Given the description of an element on the screen output the (x, y) to click on. 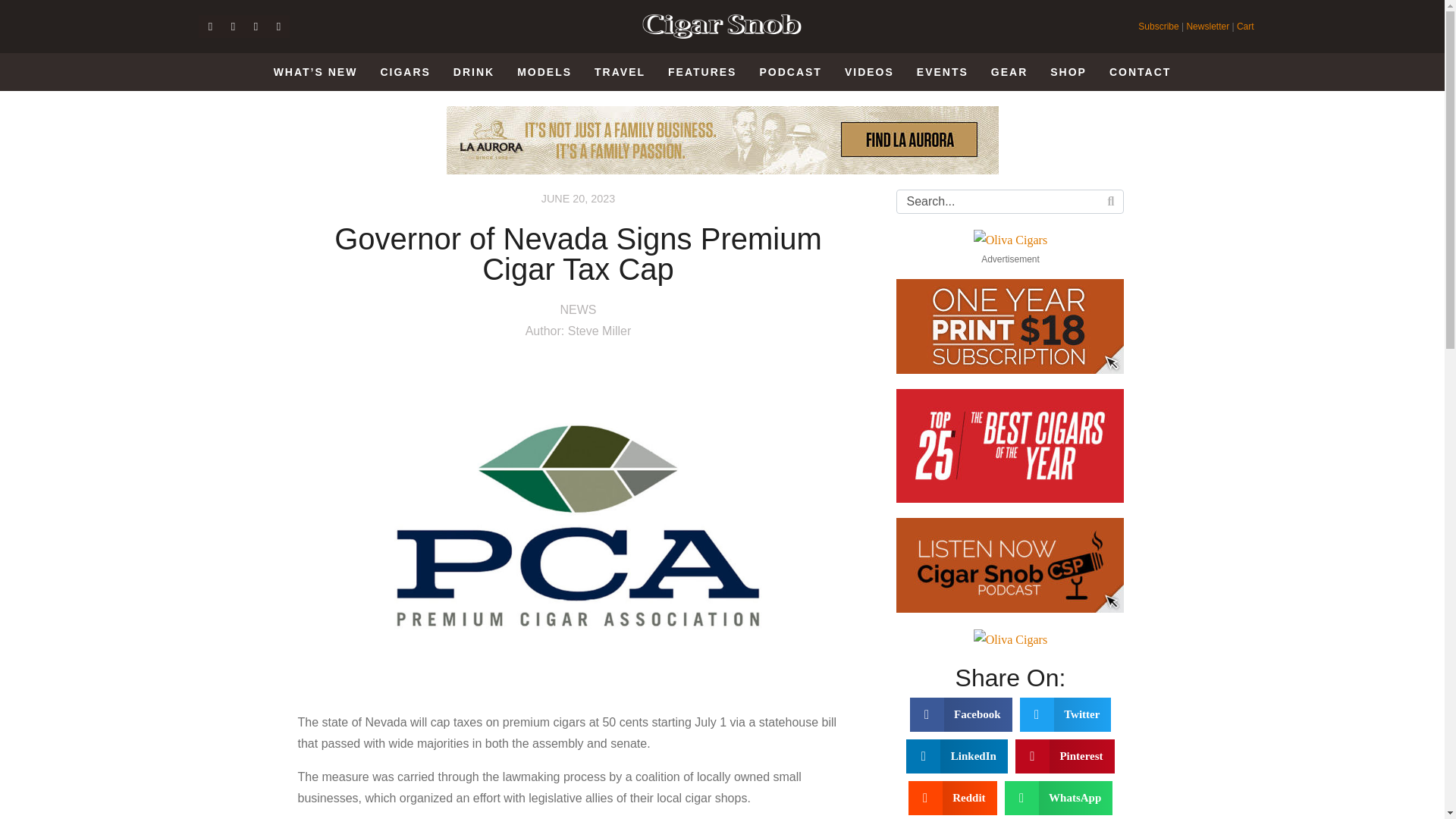
Newsletter (1207, 26)
Subscribe (1159, 26)
PODCAST (790, 71)
Oliva Cigars (1010, 639)
GEAR (1008, 71)
Oliva Cigars (1010, 240)
La Aurora Store Locator (721, 140)
SHOP (1068, 71)
VIDEOS (869, 71)
CIGARS (404, 71)
TRAVEL (620, 71)
CONTACT (1139, 71)
EVENTS (942, 71)
FEATURES (701, 71)
DRINK (473, 71)
